Given the description of an element on the screen output the (x, y) to click on. 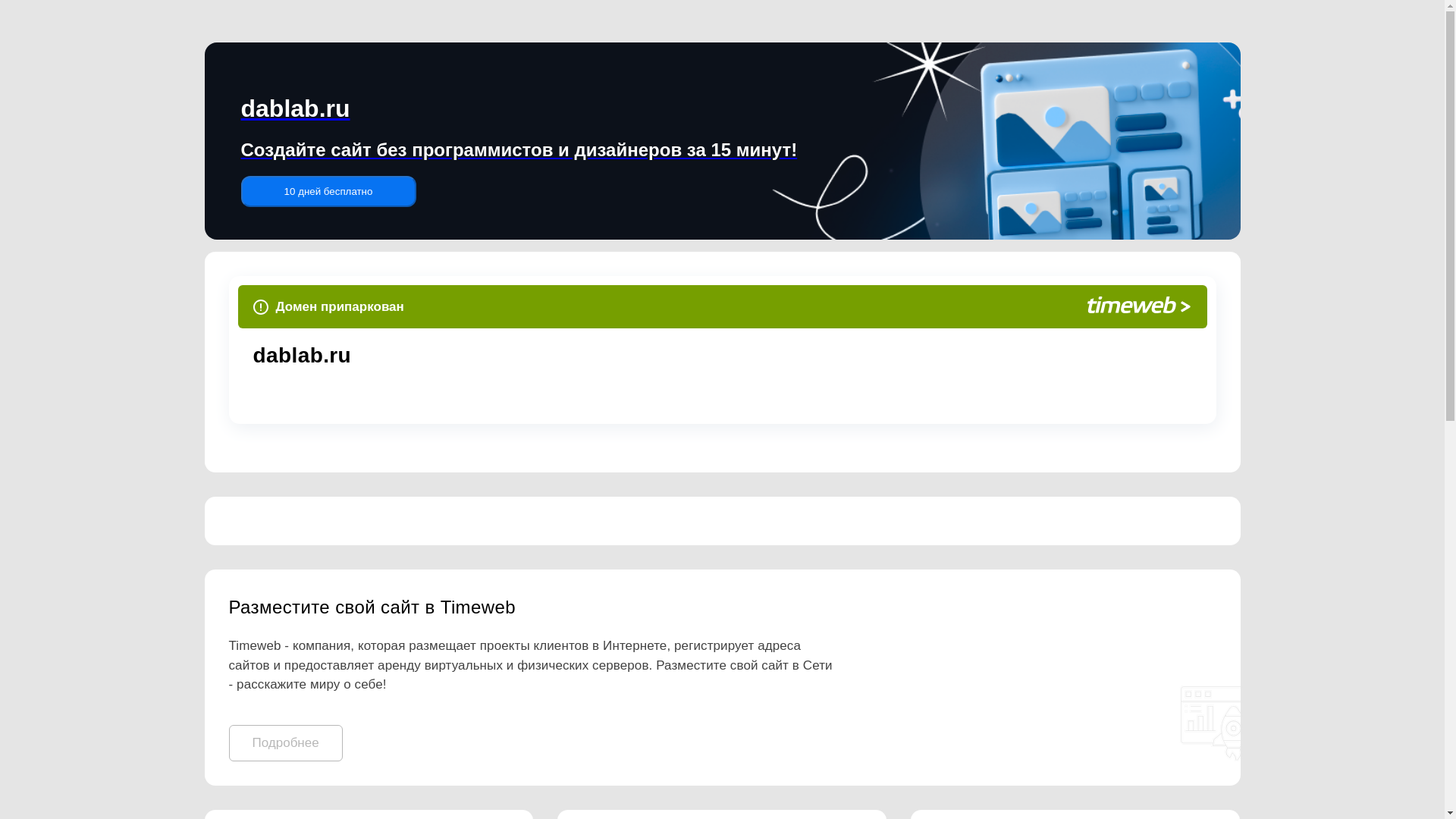
apt.ru (481, 355)
